Given the description of an element on the screen output the (x, y) to click on. 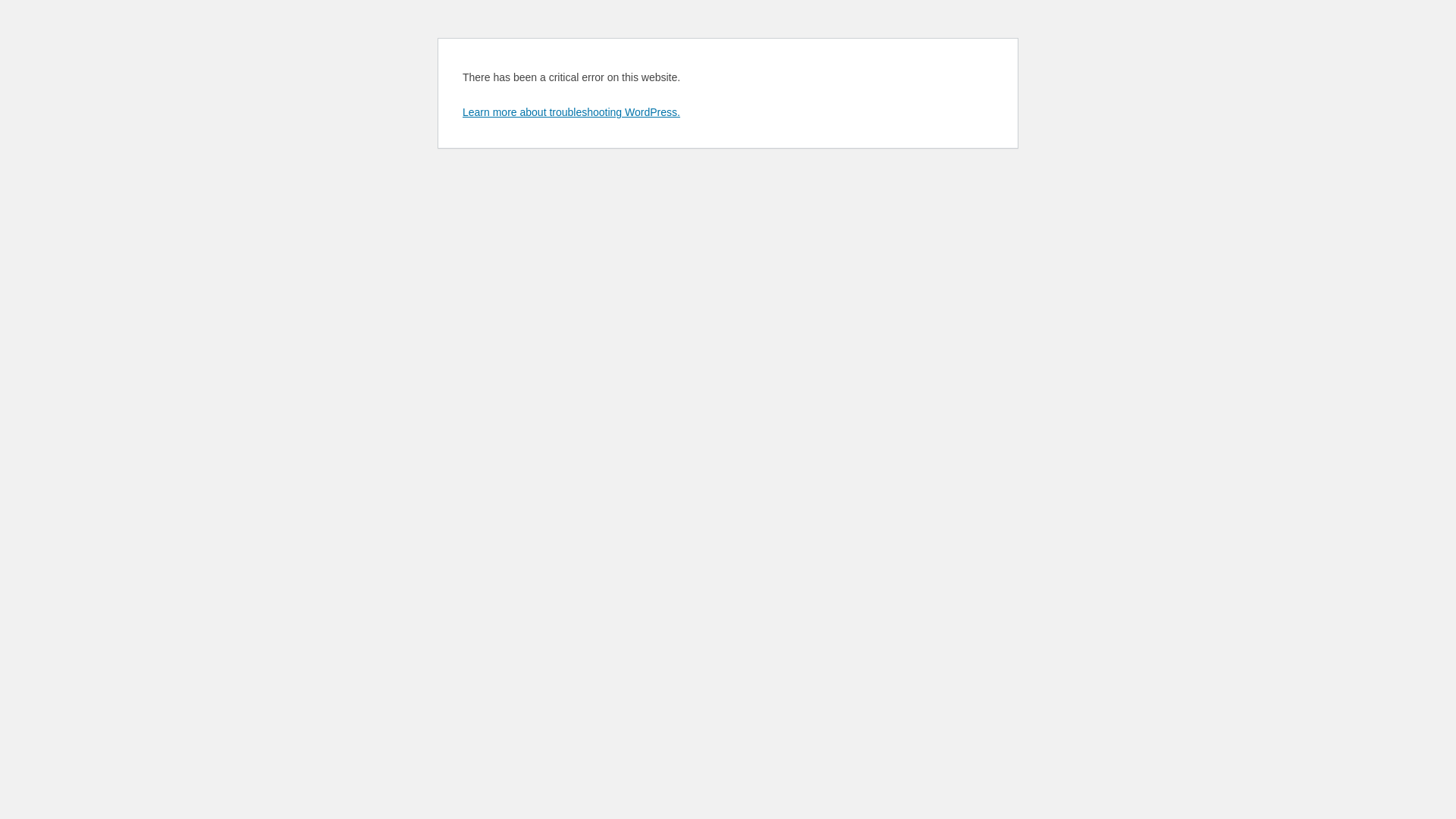
Learn more about troubleshooting WordPress. Element type: text (571, 112)
